Given the description of an element on the screen output the (x, y) to click on. 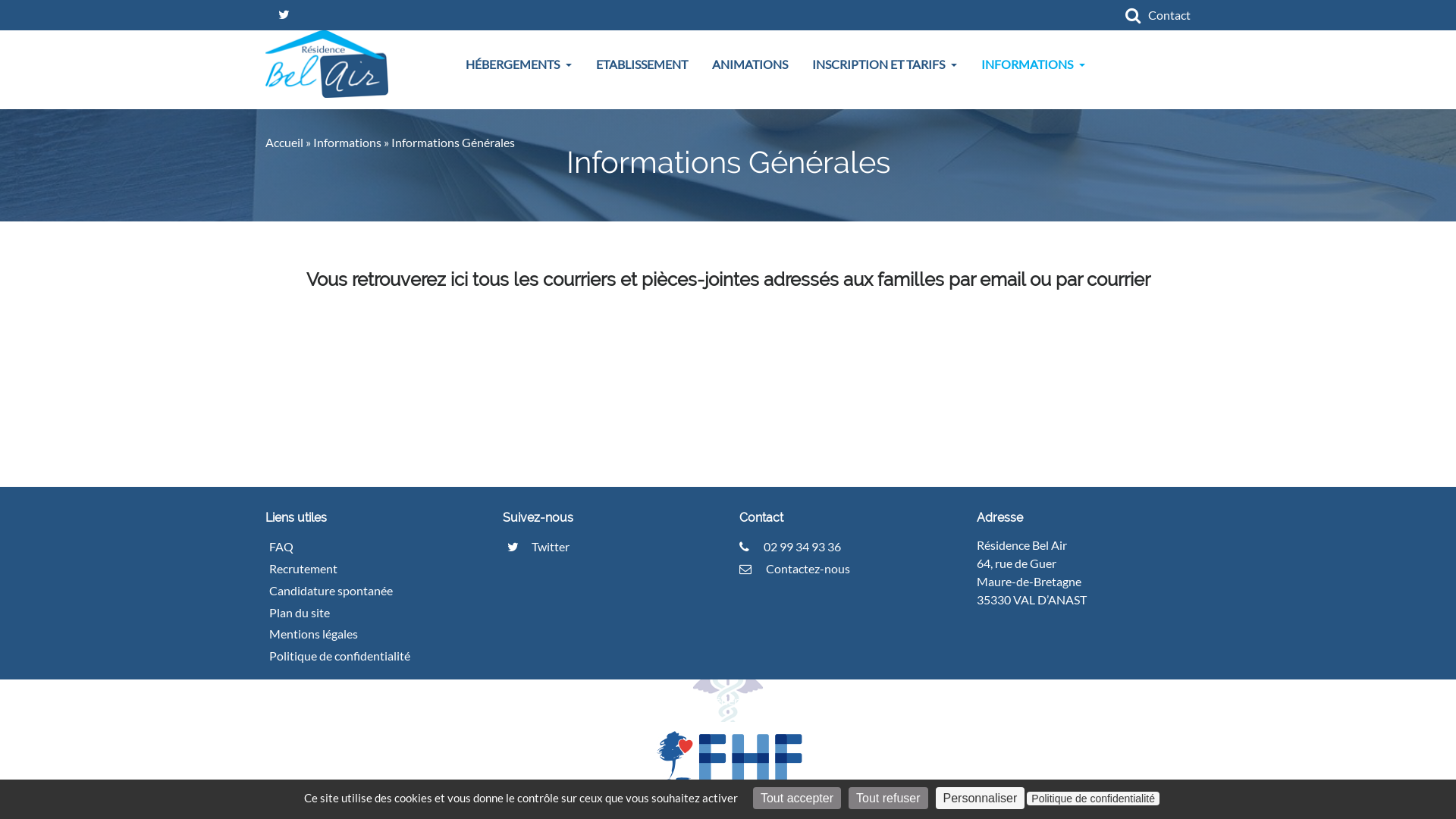
Tout refuser Element type: text (887, 798)
Contactez-nous Element type: text (794, 568)
twitter Element type: hover (283, 15)
INFORMATIONS Element type: text (1033, 64)
ANIMATIONS Element type: text (749, 64)
FAQ Element type: text (287, 546)
Recrutement Element type: text (309, 568)
Informations Element type: text (347, 141)
Plan du site Element type: text (305, 612)
ETABLISSEMENT Element type: text (641, 64)
Tout accepter Element type: text (796, 798)
Contact Element type: text (1169, 14)
INSCRIPTION ET TARIFS Element type: text (884, 64)
Twitter Element type: text (535, 546)
Personnaliser Element type: text (980, 798)
Accueil Element type: text (284, 141)
